Given the description of an element on the screen output the (x, y) to click on. 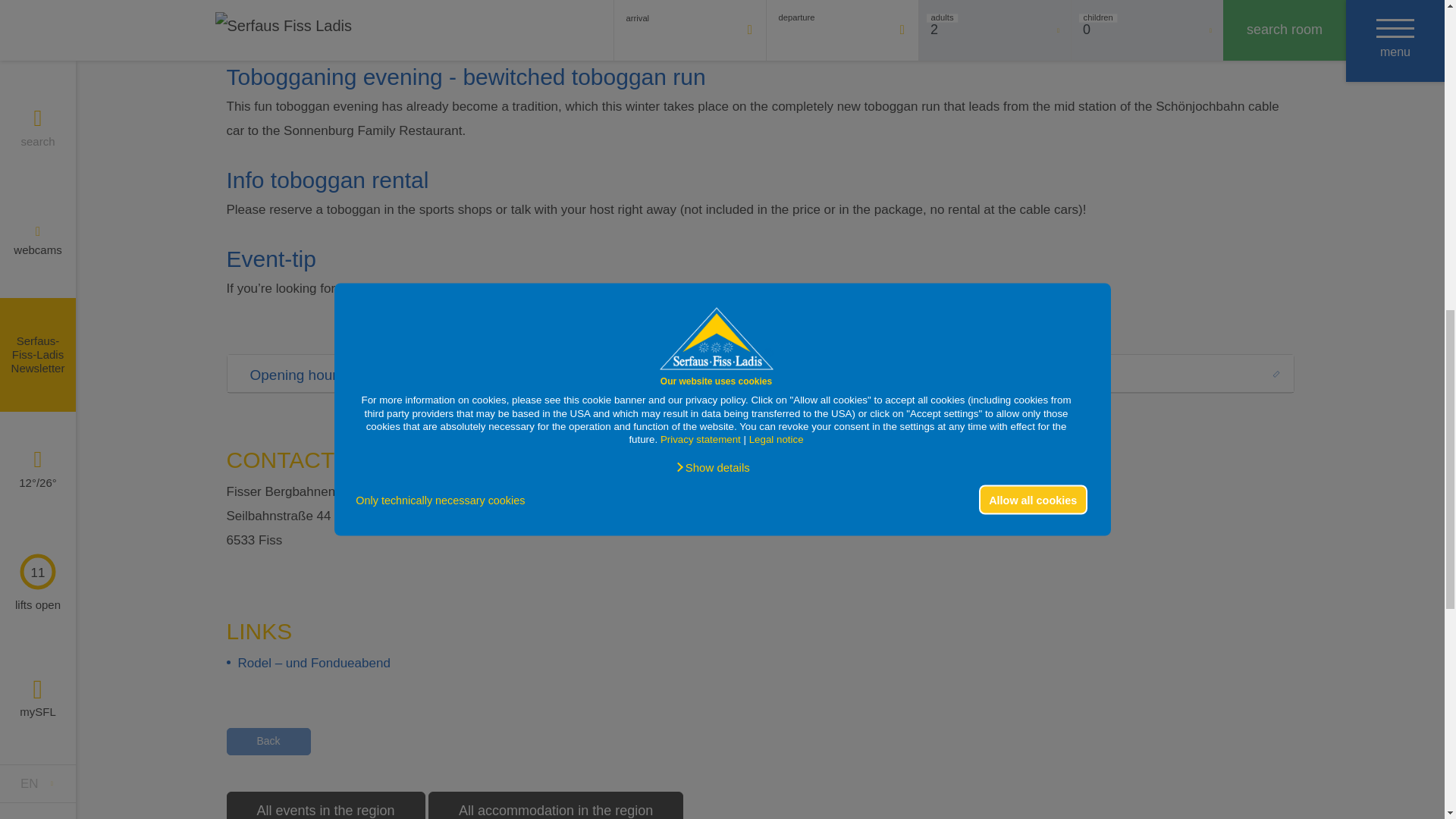
 fondue evening  (757, 288)
Back (267, 741)
All accommodation in the region (555, 805)
All events in the region (325, 805)
E-Mail (982, 491)
Opening hours (760, 373)
